Given the description of an element on the screen output the (x, y) to click on. 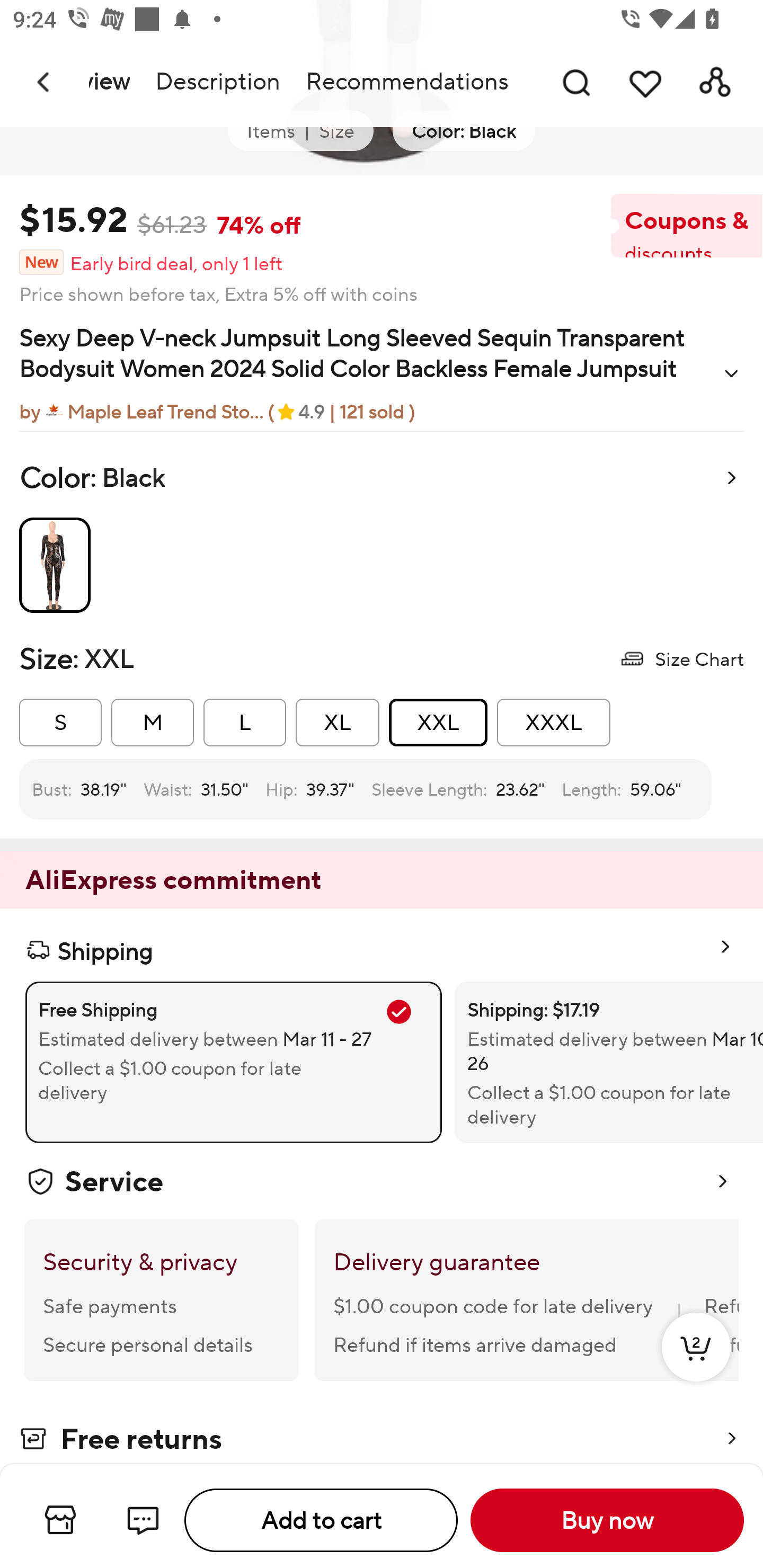
Navigate up (44, 82)
Description (217, 81)
Recommendations (406, 81)
Items (271, 130)
Size (336, 130)
Color: Black (463, 130)
 (730, 372)
Size Chart (680, 658)
S (60, 722)
M (152, 722)
L (244, 722)
XL (337, 722)
XXL (438, 722)
XXXL (553, 722)
2 (695, 1366)
Free returns  (381, 1439)
Add to cart (320, 1520)
Buy now (606, 1520)
